Given the description of an element on the screen output the (x, y) to click on. 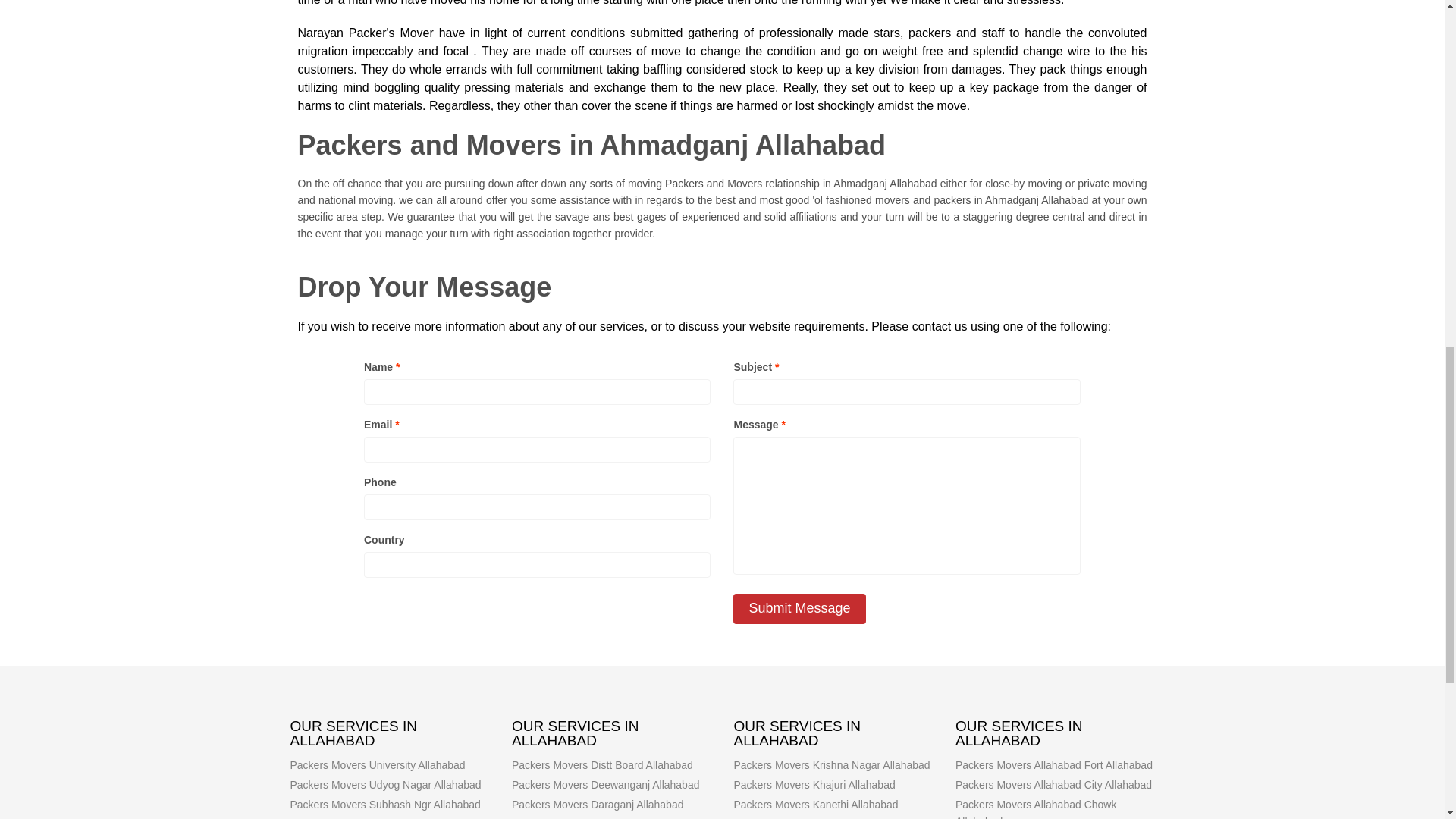
Packers Movers University Allahabad (376, 765)
Packers Movers Udyog Nagar Allahabad (384, 784)
Packers Movers Subhash Ngr Allahabad (384, 804)
Submit Message (798, 608)
